Given the description of an element on the screen output the (x, y) to click on. 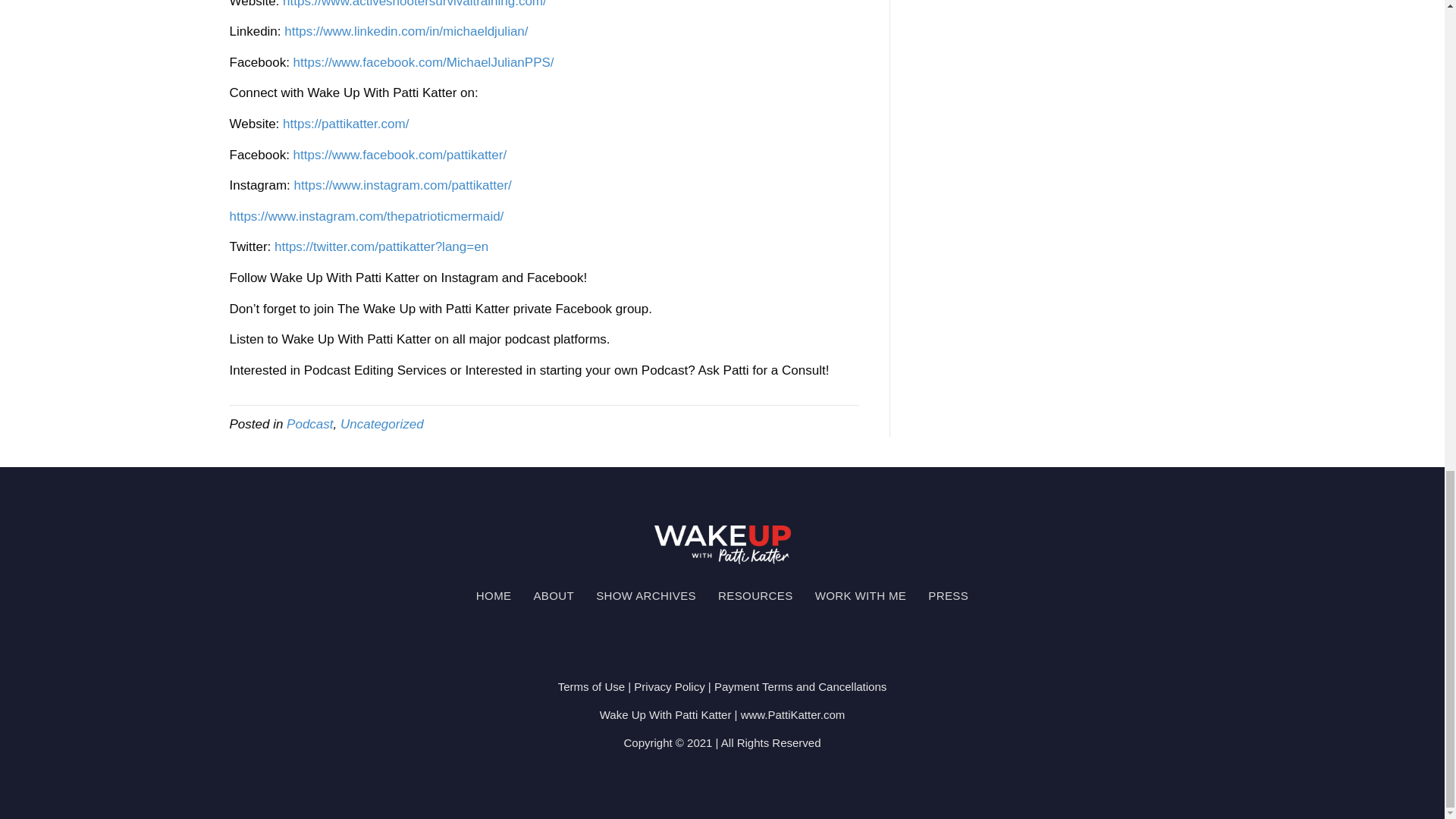
ABOUT (553, 595)
logo (721, 544)
HOME (493, 595)
SHOW ARCHIVES (645, 595)
Podcast (309, 423)
WORK WITH ME (861, 595)
PRESS (947, 595)
RESOURCES (755, 595)
Uncategorized (381, 423)
